Given the description of an element on the screen output the (x, y) to click on. 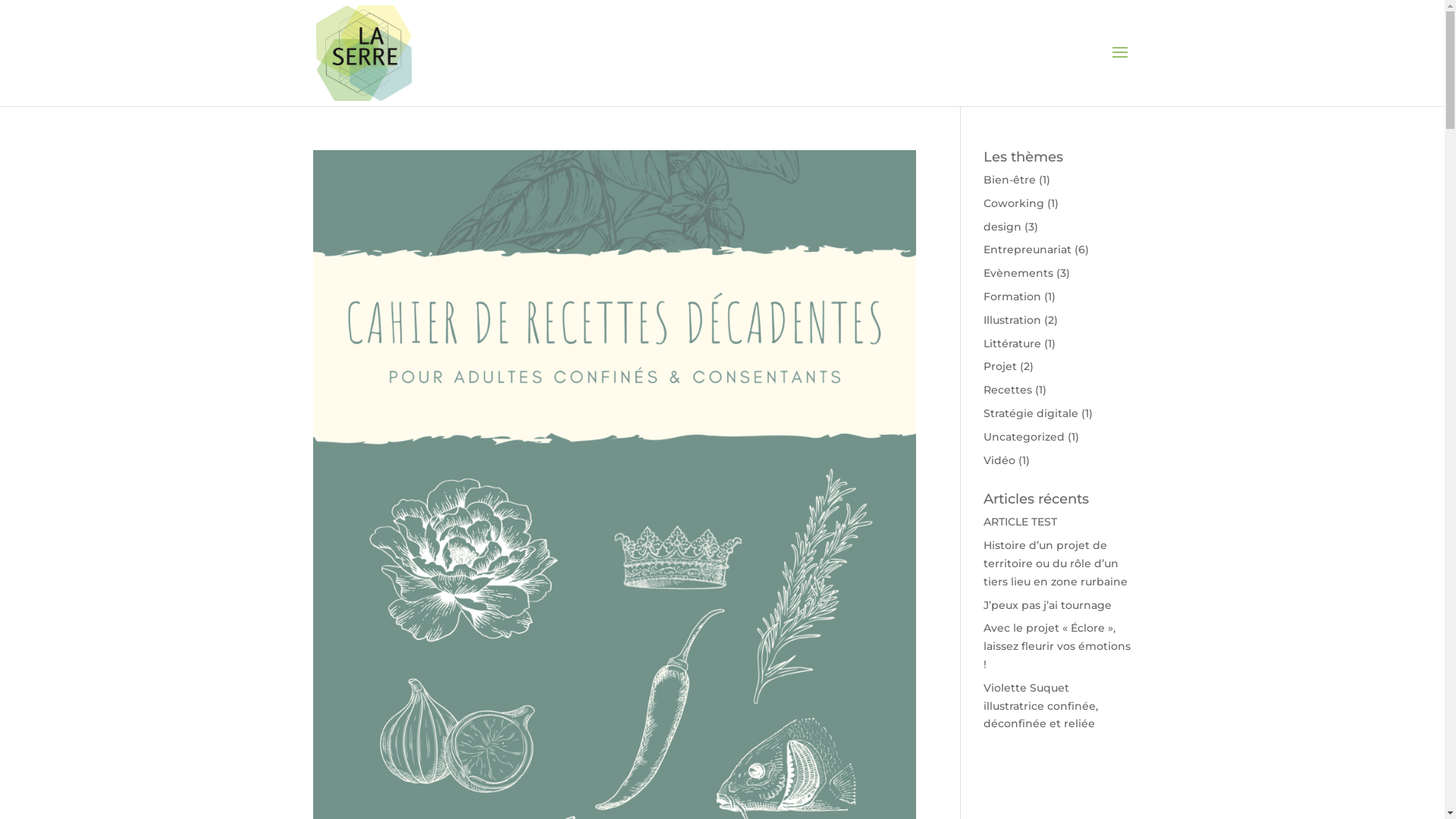
Recettes Element type: text (1007, 389)
Projet Element type: text (999, 366)
ARTICLE TEST Element type: text (1020, 521)
Formation Element type: text (1012, 296)
Uncategorized Element type: text (1023, 436)
Entrepreunariat Element type: text (1027, 249)
design Element type: text (1002, 226)
Illustration Element type: text (1012, 319)
Coworking Element type: text (1013, 203)
